Given the description of an element on the screen output the (x, y) to click on. 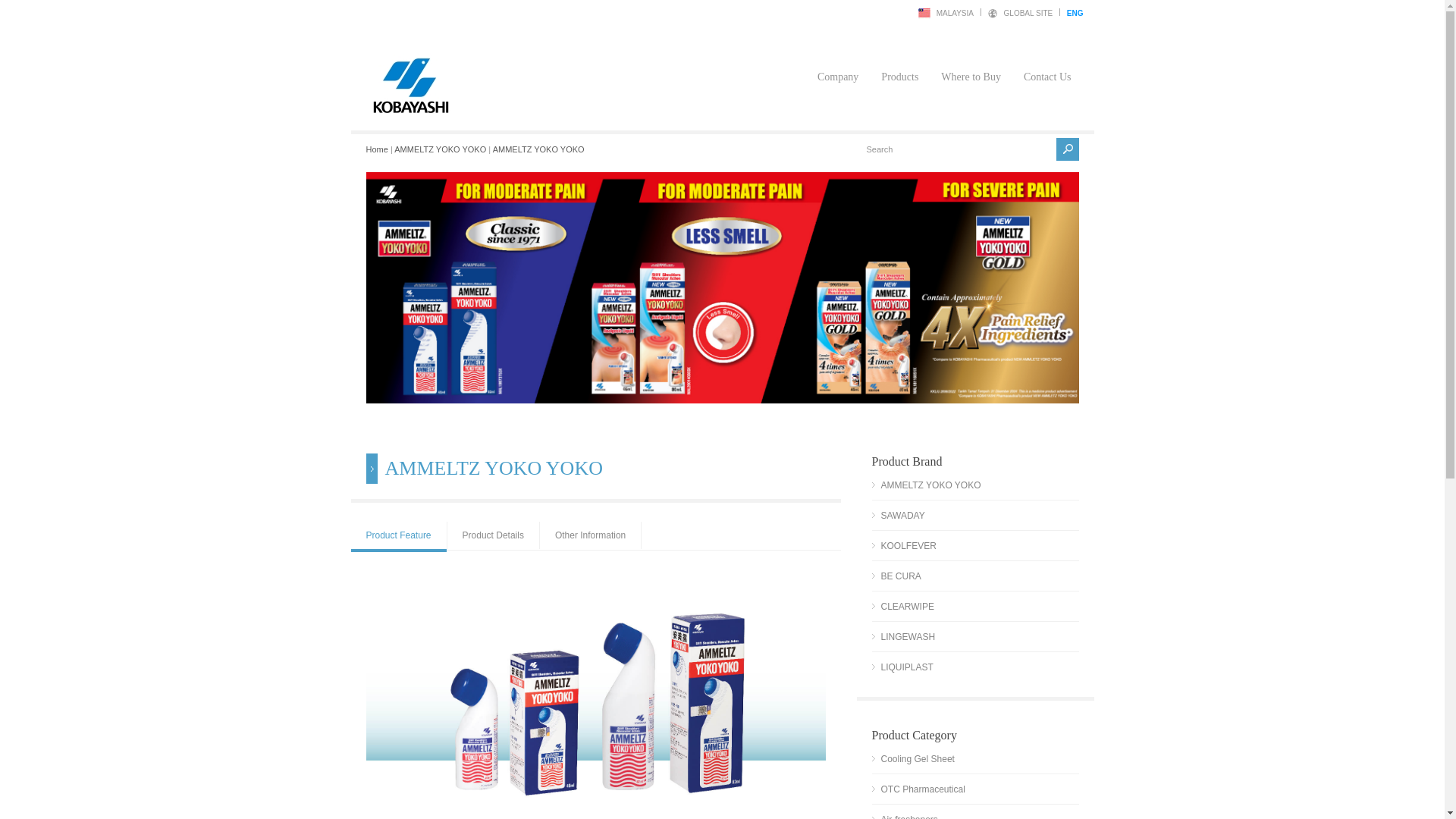
Other Information (590, 534)
AMMELTZ YOKO YOKO (539, 148)
Product Feature (397, 536)
Company (837, 60)
Air-fresheners (904, 816)
global (1028, 13)
AMMELTZ YOKO YOKO (440, 148)
GLOBAL SITE (1028, 13)
AMMELTZ YOKO YOKO (539, 148)
Product Details (492, 534)
